Given the description of an element on the screen output the (x, y) to click on. 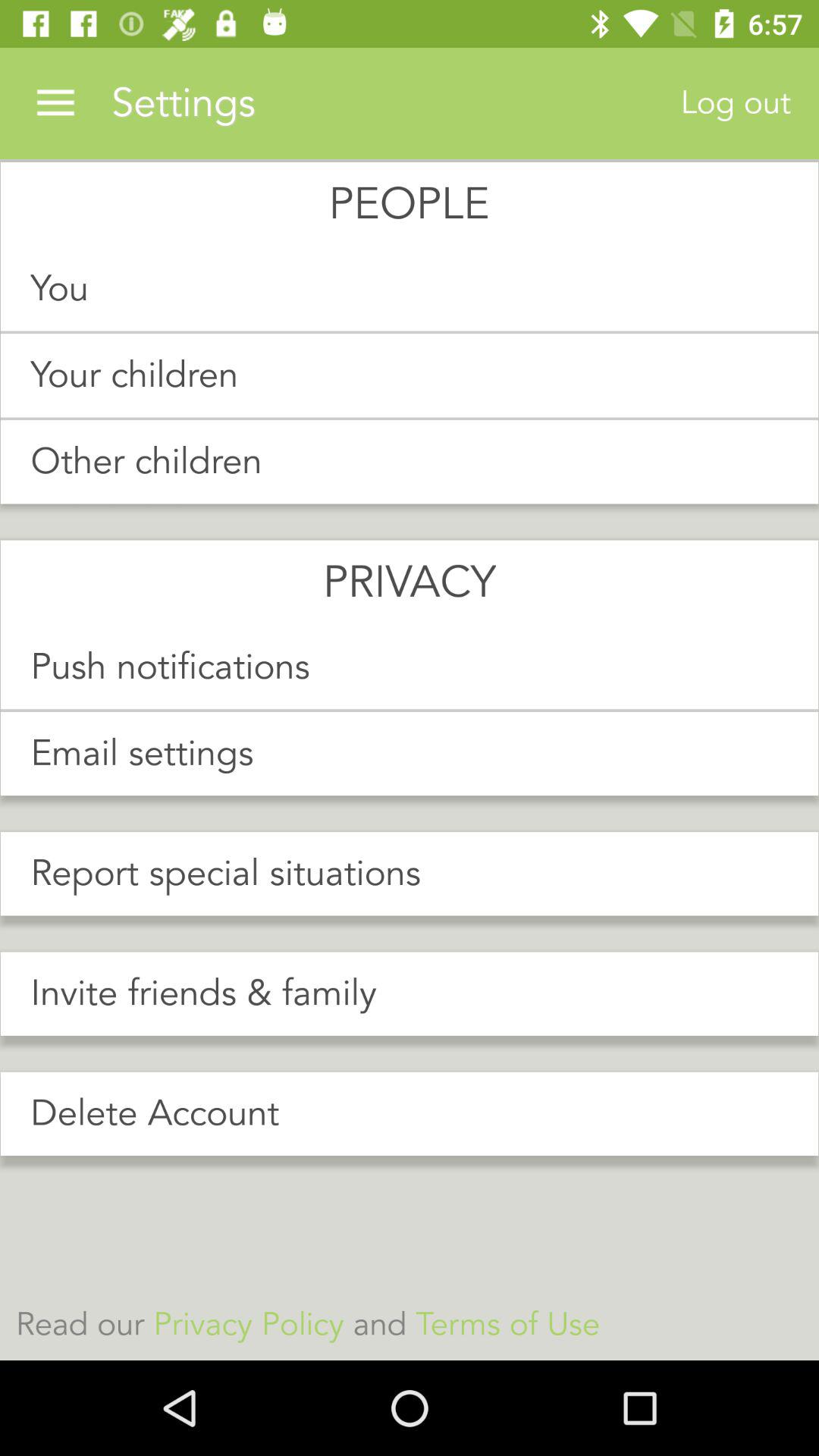
select the icon above the delete account (409, 993)
